Given the description of an element on the screen output the (x, y) to click on. 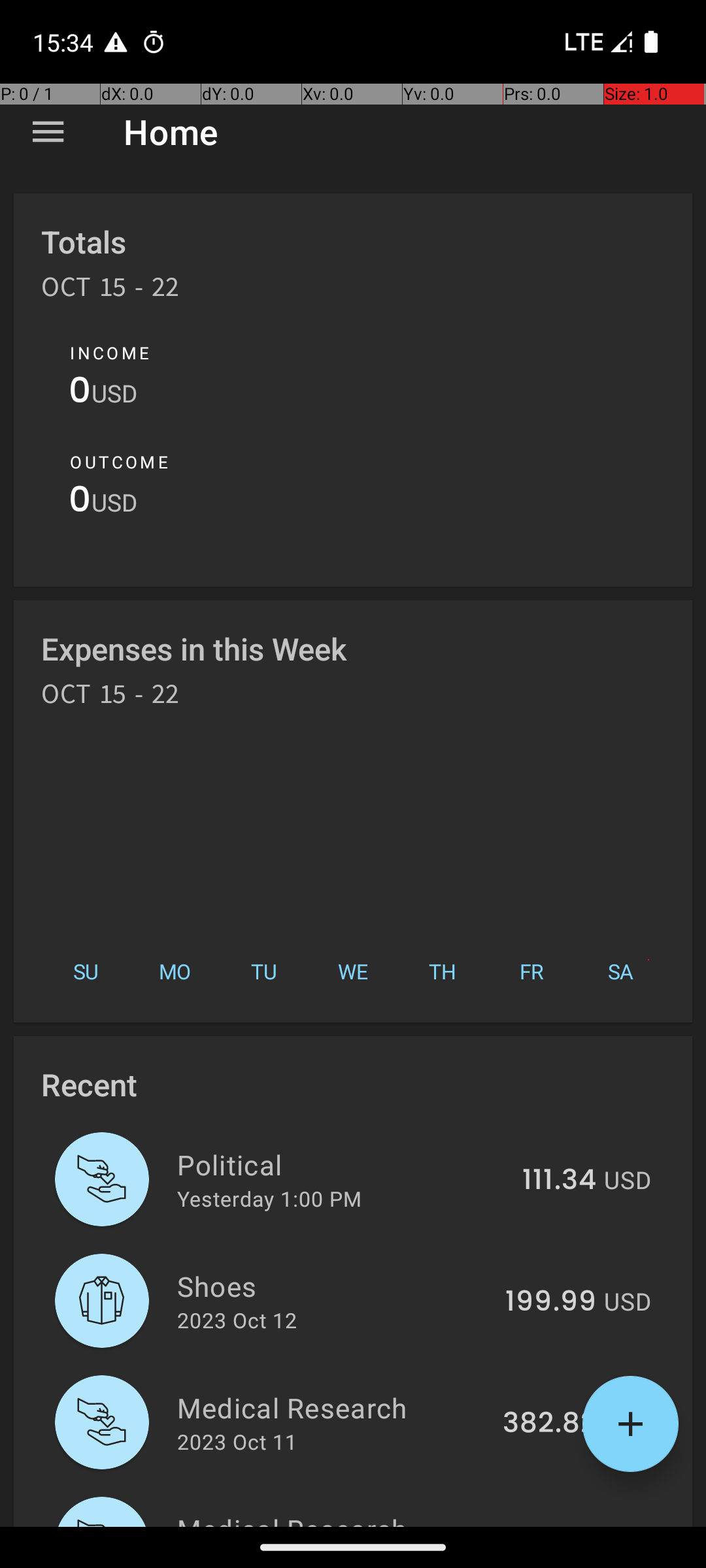
Political Element type: android.widget.TextView (341, 1164)
Yesterday 1:00 PM Element type: android.widget.TextView (269, 1198)
111.34 Element type: android.widget.TextView (558, 1180)
Shoes Element type: android.widget.TextView (333, 1285)
199.99 Element type: android.widget.TextView (550, 1301)
Medical Research Element type: android.widget.TextView (332, 1407)
382.82 Element type: android.widget.TextView (549, 1423)
